Given the description of an element on the screen output the (x, y) to click on. 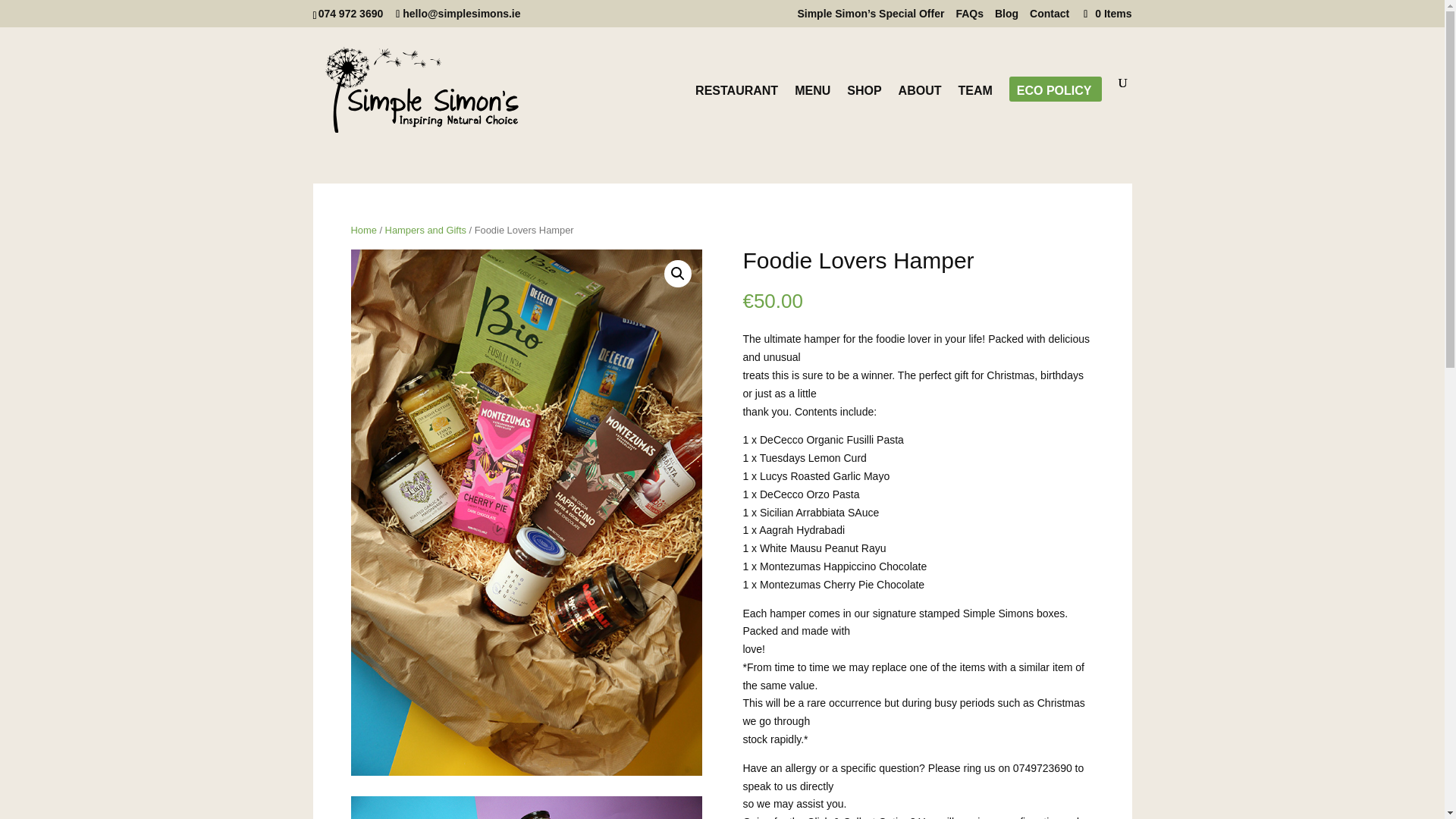
Home (362, 229)
Hampers and Gifts (425, 229)
simple-simons-foodie-lovers-display (525, 807)
Contact (1048, 16)
RESTAURANT (736, 115)
0 Items (1105, 13)
074 972 3690 (353, 13)
ECO POLICY (1054, 115)
Blog (1005, 16)
FAQs (969, 16)
